Given the description of an element on the screen output the (x, y) to click on. 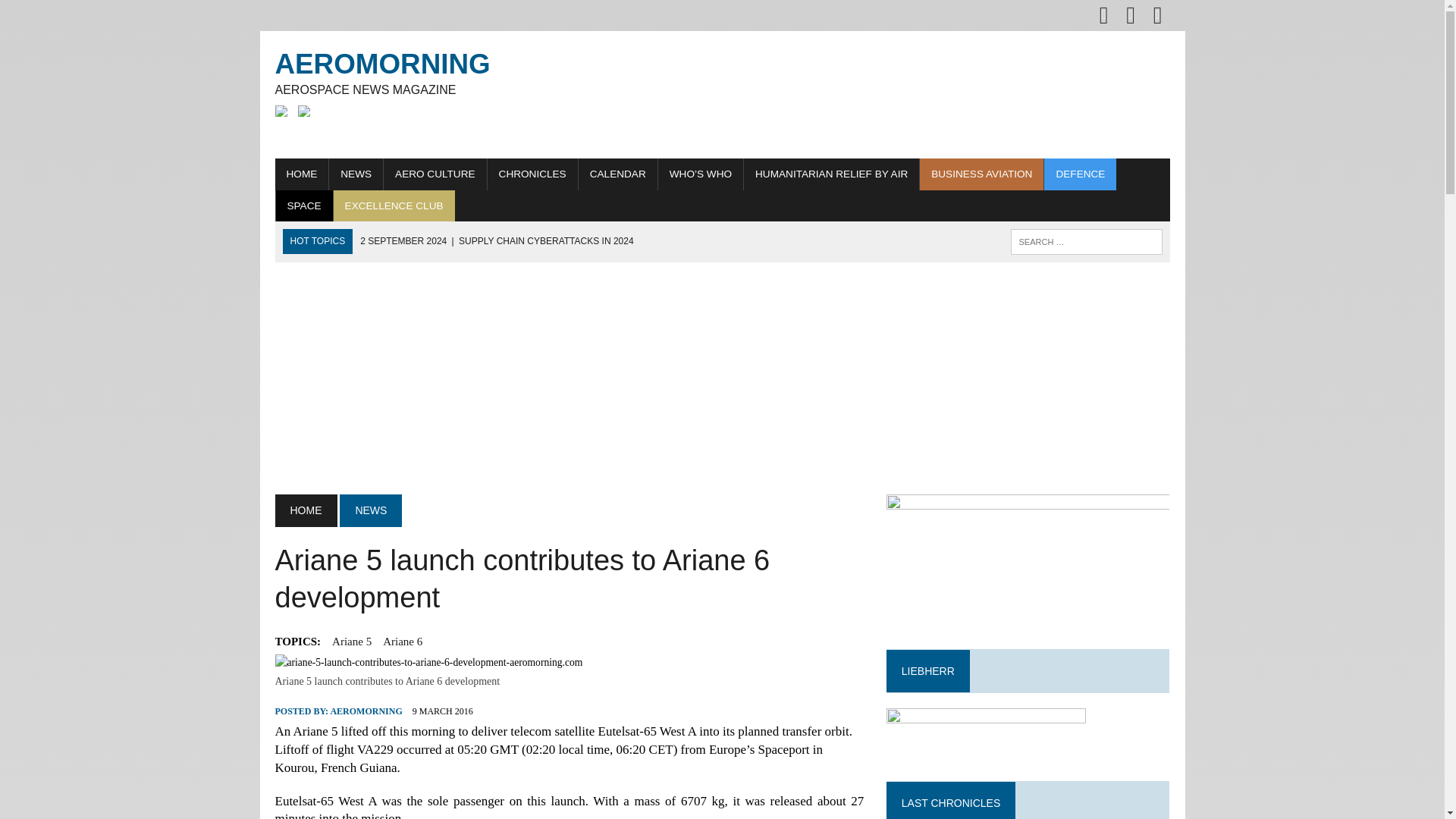
NEWS (355, 174)
CHRONICLES (532, 174)
SPACE (304, 205)
AERO CULTURE (435, 174)
CALENDAR (618, 174)
Supply Chain Cyberattacks in 2024 (496, 240)
HOME (305, 510)
DEFENCE (1079, 174)
BUSINESS AVIATION (981, 174)
HOME (302, 174)
